Given the description of an element on the screen output the (x, y) to click on. 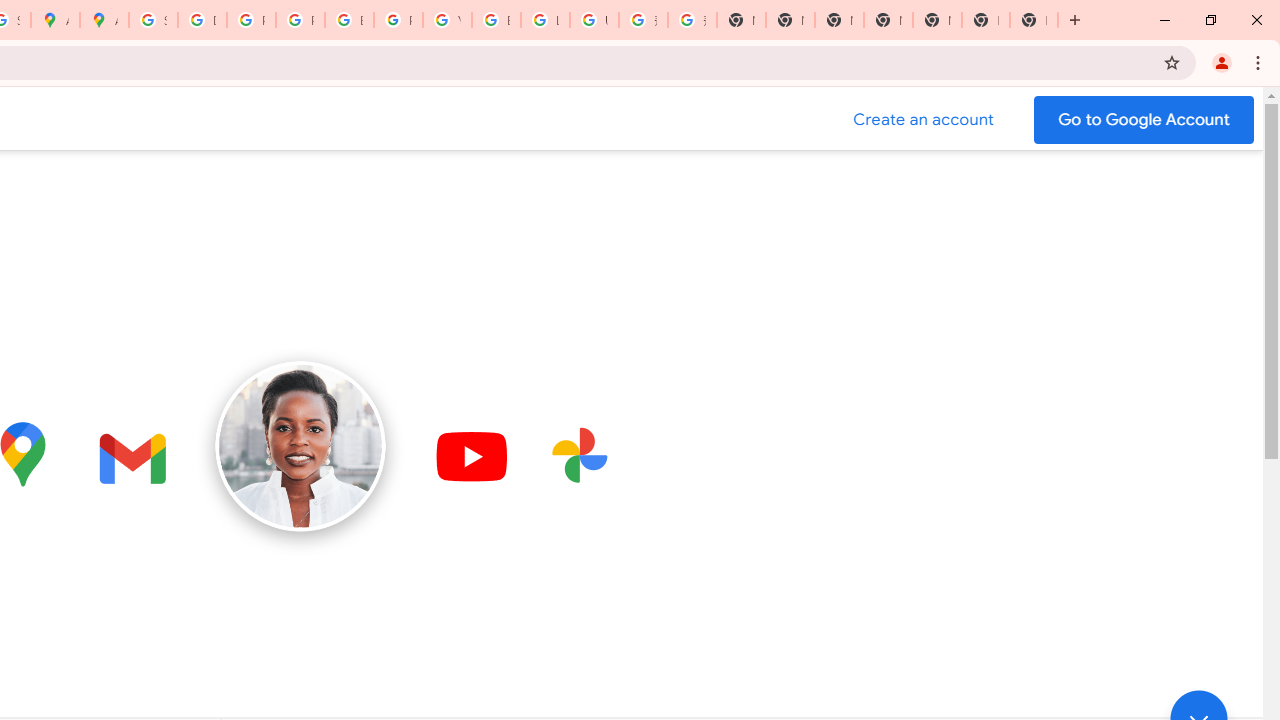
New Tab (888, 20)
Privacy Help Center - Policies Help (251, 20)
New Tab (985, 20)
YouTube (447, 20)
Create a Google Account (923, 119)
Sign in - Google Accounts (153, 20)
